Given the description of an element on the screen output the (x, y) to click on. 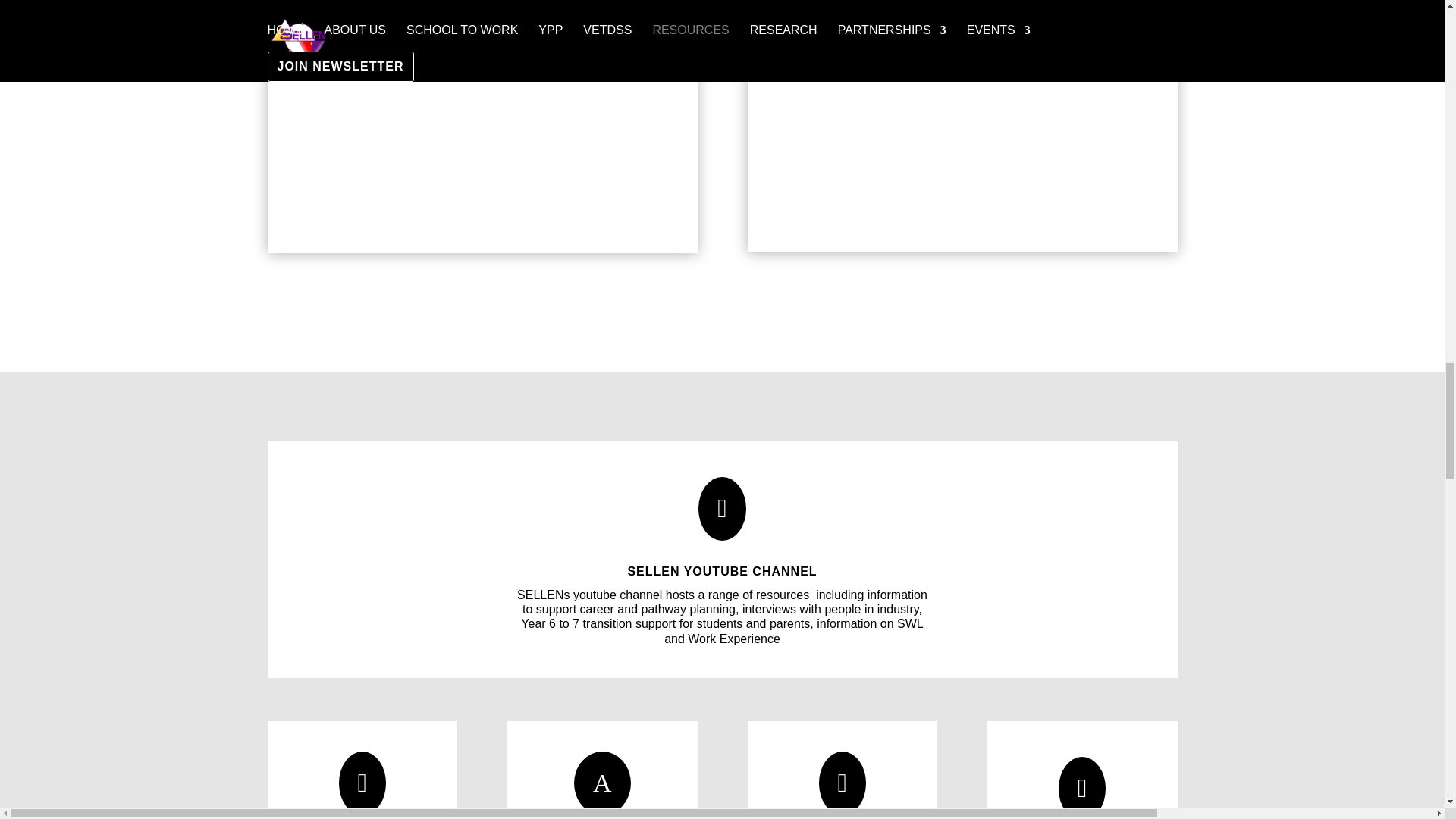
InterviewSkills (481, 125)
CoverLetter (962, 125)
